Given the description of an element on the screen output the (x, y) to click on. 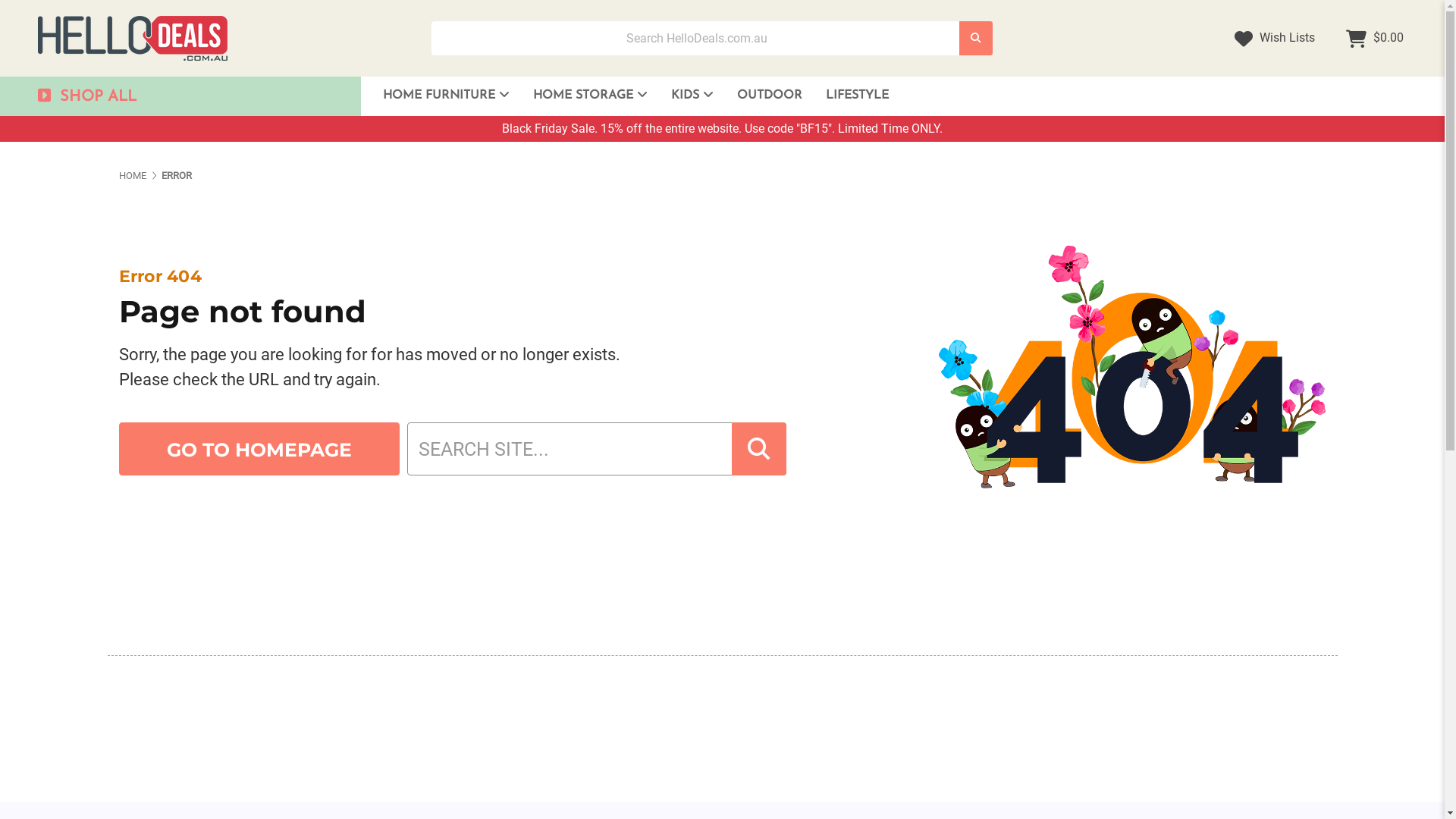
GO TO HOMEPAGE Element type: text (258, 448)
Kids Bedroom Furniture Element type: text (765, 133)
HOME
 PAGES ABOUT US Element type: text (131, 175)
ERROR
 PAGES ABOUT US Element type: text (176, 175)
HOME STORAGE Element type: text (590, 95)
Storage Container and Drawer Element type: text (627, 133)
KIDS Element type: text (692, 95)
Search Element type: text (758, 448)
HOME FURNITURE Element type: text (445, 95)
$0.00 Element type: text (1374, 37)
Wish Lists Element type: text (1274, 37)
LIFESTYLE Element type: text (856, 95)
Home Furniture Bedroom Element type: text (477, 133)
404 Search Element type: hover (758, 448)
HelloDeals.com.au Element type: hover (132, 37)
OUTDOOR Element type: text (769, 95)
Submit Search Element type: hover (975, 38)
Search Element type: text (975, 38)
